Given the description of an element on the screen output the (x, y) to click on. 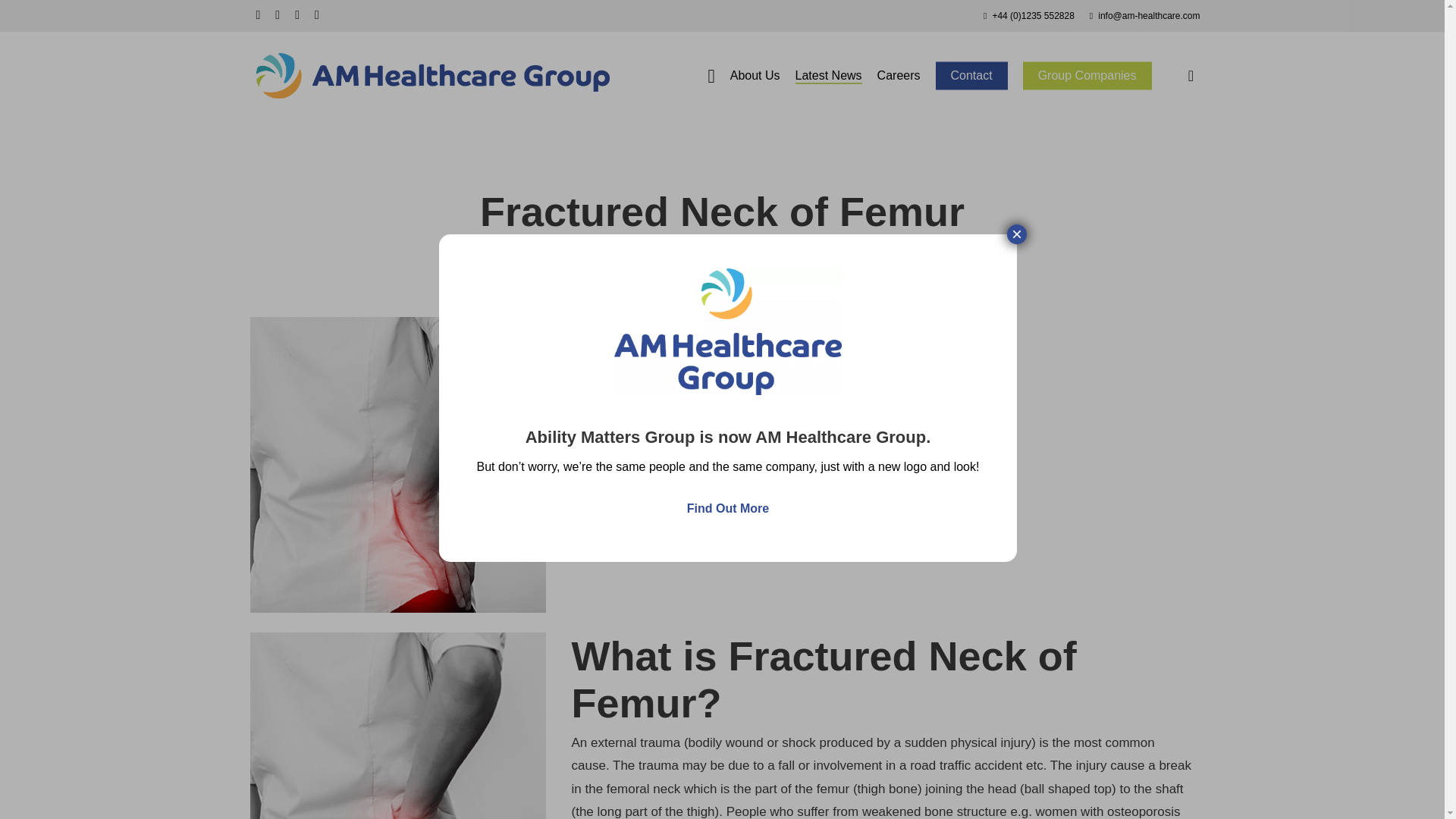
search (1189, 75)
About Us (755, 75)
Careers (898, 75)
Contact (971, 75)
Group Companies (1087, 75)
Latest News (827, 75)
